Given the description of an element on the screen output the (x, y) to click on. 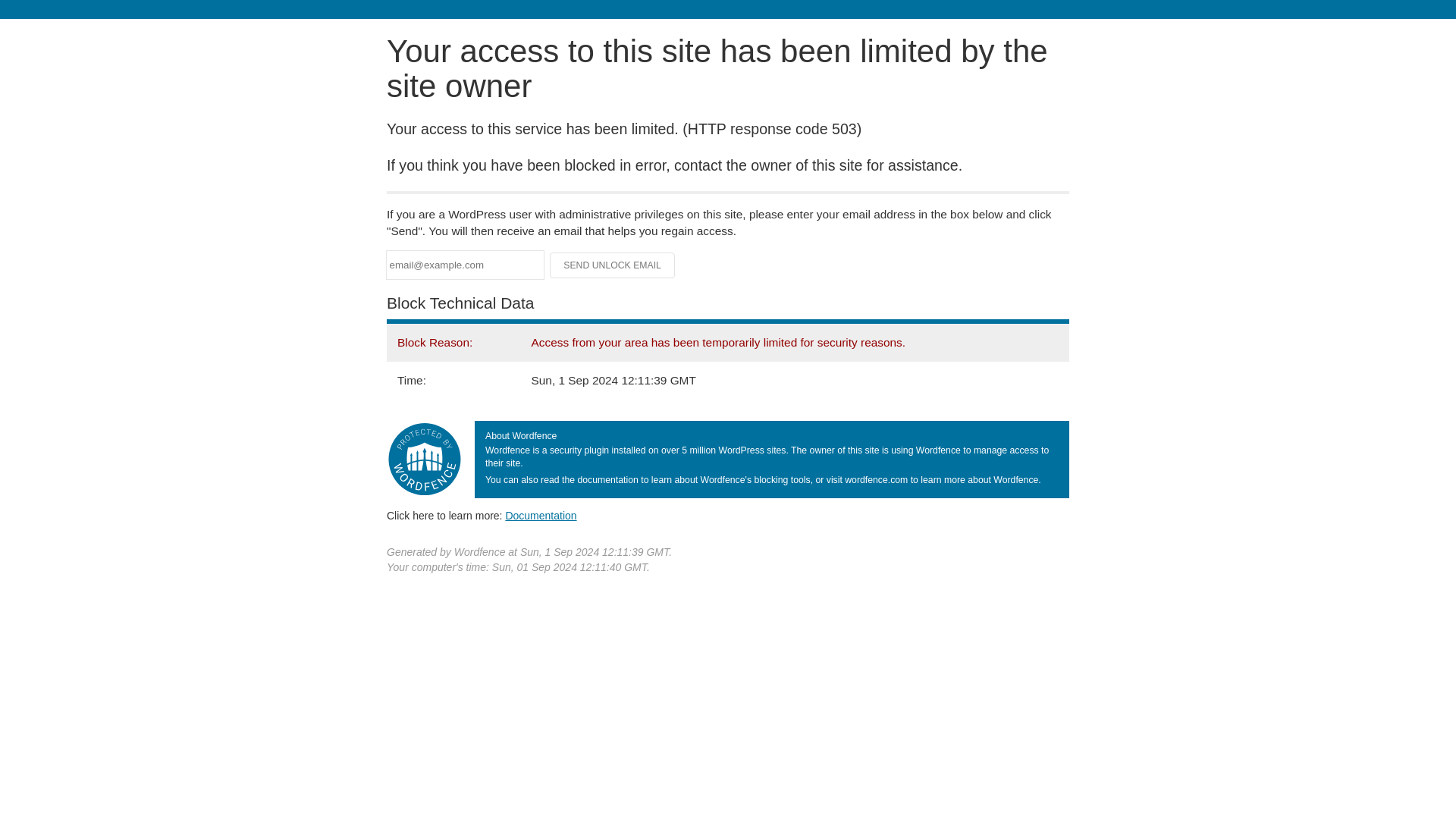
Send Unlock Email (612, 265)
Documentation (540, 515)
Send Unlock Email (612, 265)
